Given the description of an element on the screen output the (x, y) to click on. 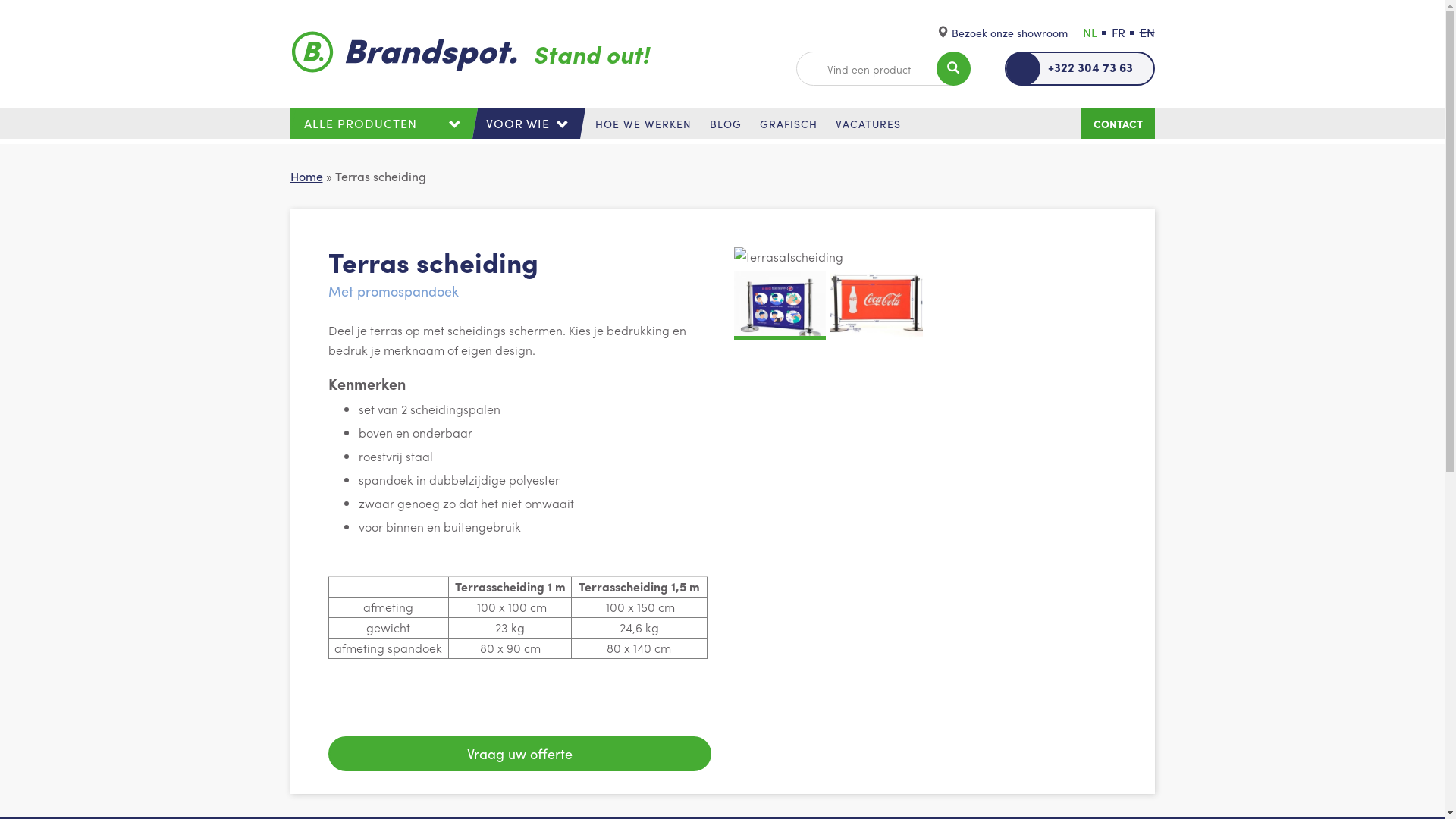
Bezoek onze showroom Element type: text (1008, 32)
ALLE PRODUCTEN Element type: text (380, 123)
+322 304 73 63 Element type: text (1079, 68)
GRAFISCH Element type: text (788, 123)
GO Element type: text (87, 15)
Skip to main content Element type: text (56, 0)
NL Element type: text (1089, 31)
Home Element type: text (305, 176)
VOOR WIE Element type: text (525, 123)
HOE WE WERKEN Element type: text (642, 123)
BLOG Element type: text (725, 123)
Vraag uw offerte Element type: text (518, 753)
FR Element type: text (1118, 31)
Enter the terms you wish to search for. Element type: hover (883, 68)
CONTACT Element type: text (1117, 123)
Stand out! Element type: text (475, 51)
VACATURES Element type: text (868, 123)
